Given the description of an element on the screen output the (x, y) to click on. 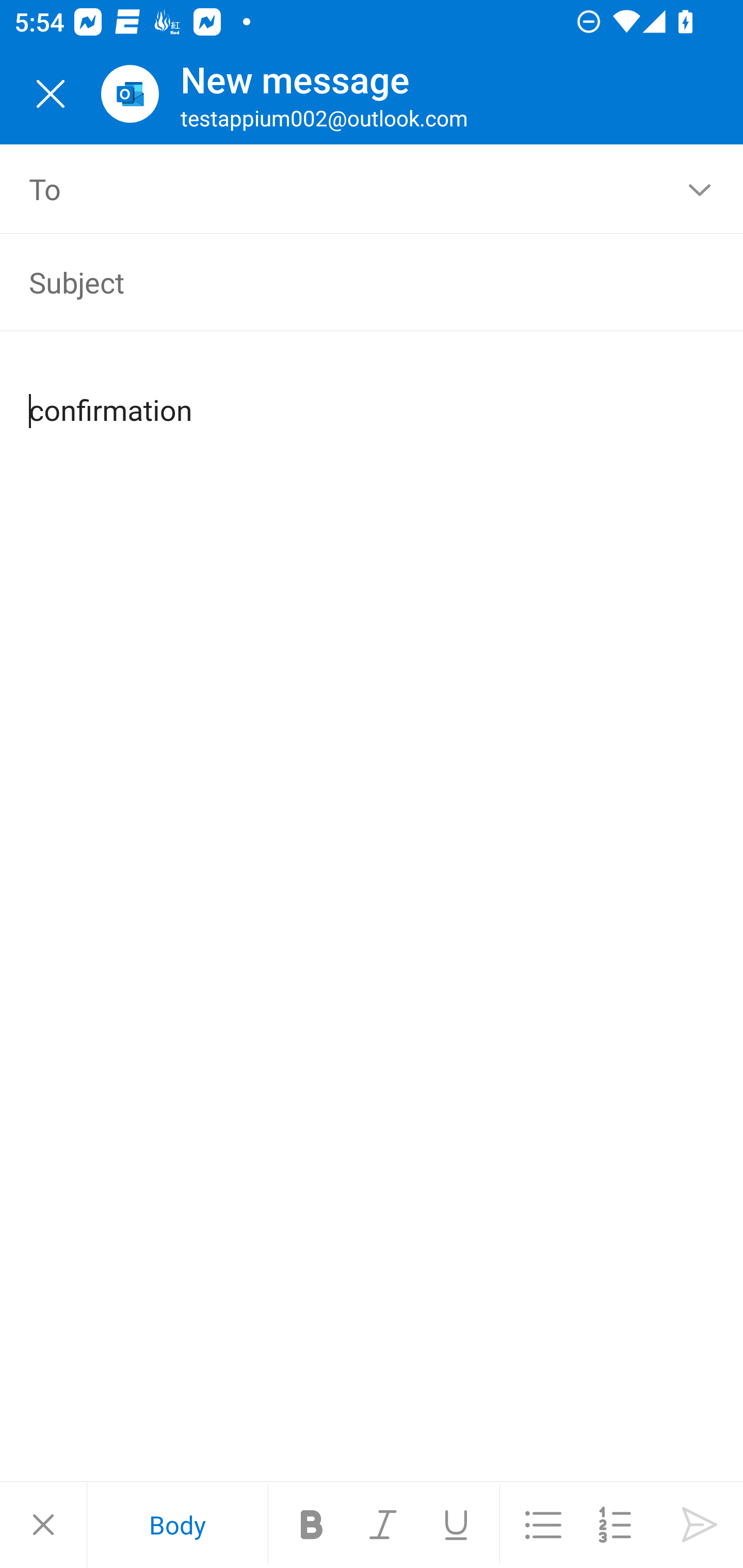
Close (50, 93)
Subject (342, 281)

confirmation (372, 394)
Close (43, 1524)
Send (699, 1524)
Font style button body Body (176, 1524)
Bold (311, 1524)
Italics (384, 1524)
Underline (456, 1524)
Bulleted list (543, 1524)
Numbered list (615, 1524)
